Given the description of an element on the screen output the (x, y) to click on. 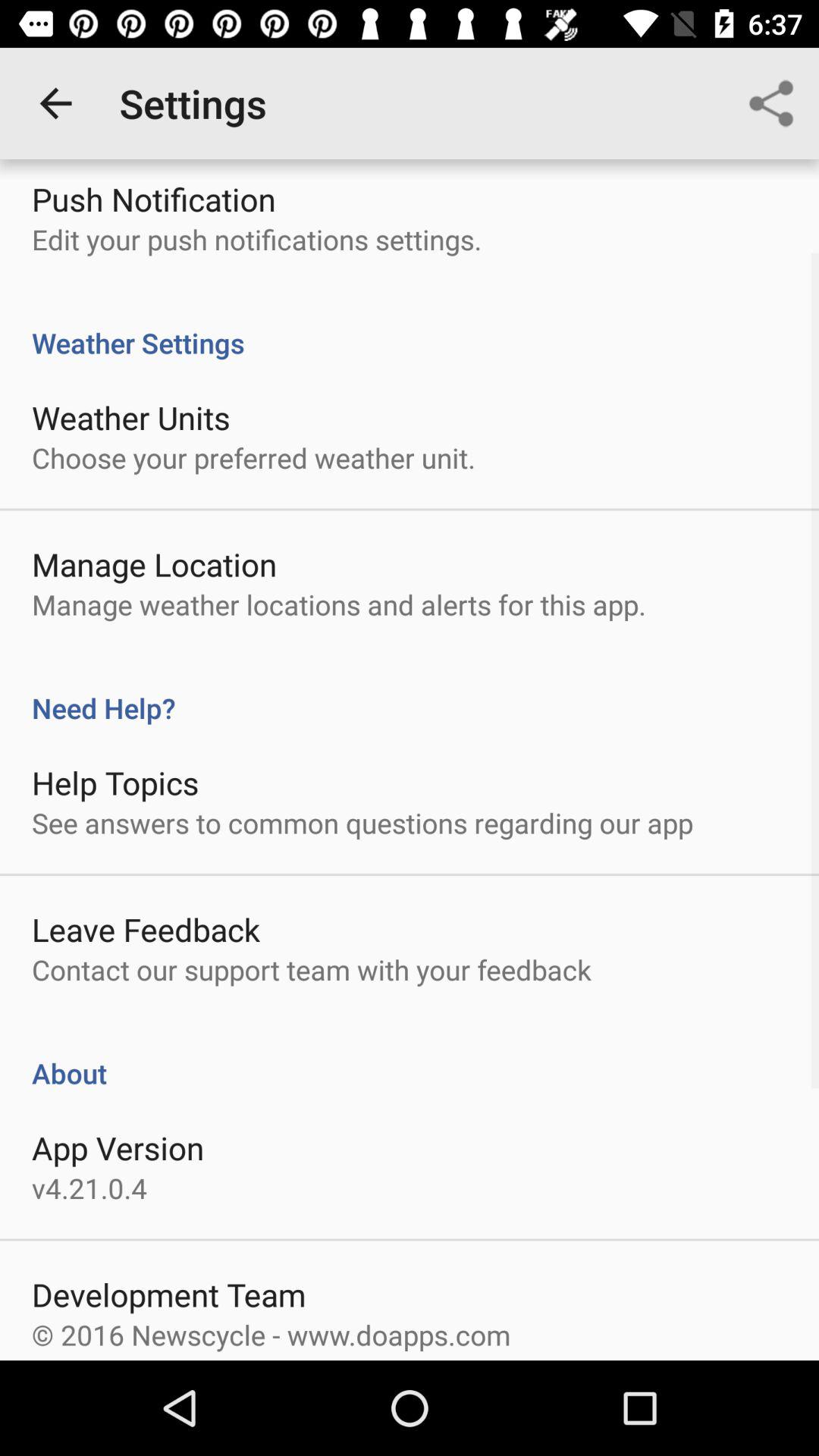
choose the icon to the left of the settings  item (55, 103)
